Given the description of an element on the screen output the (x, y) to click on. 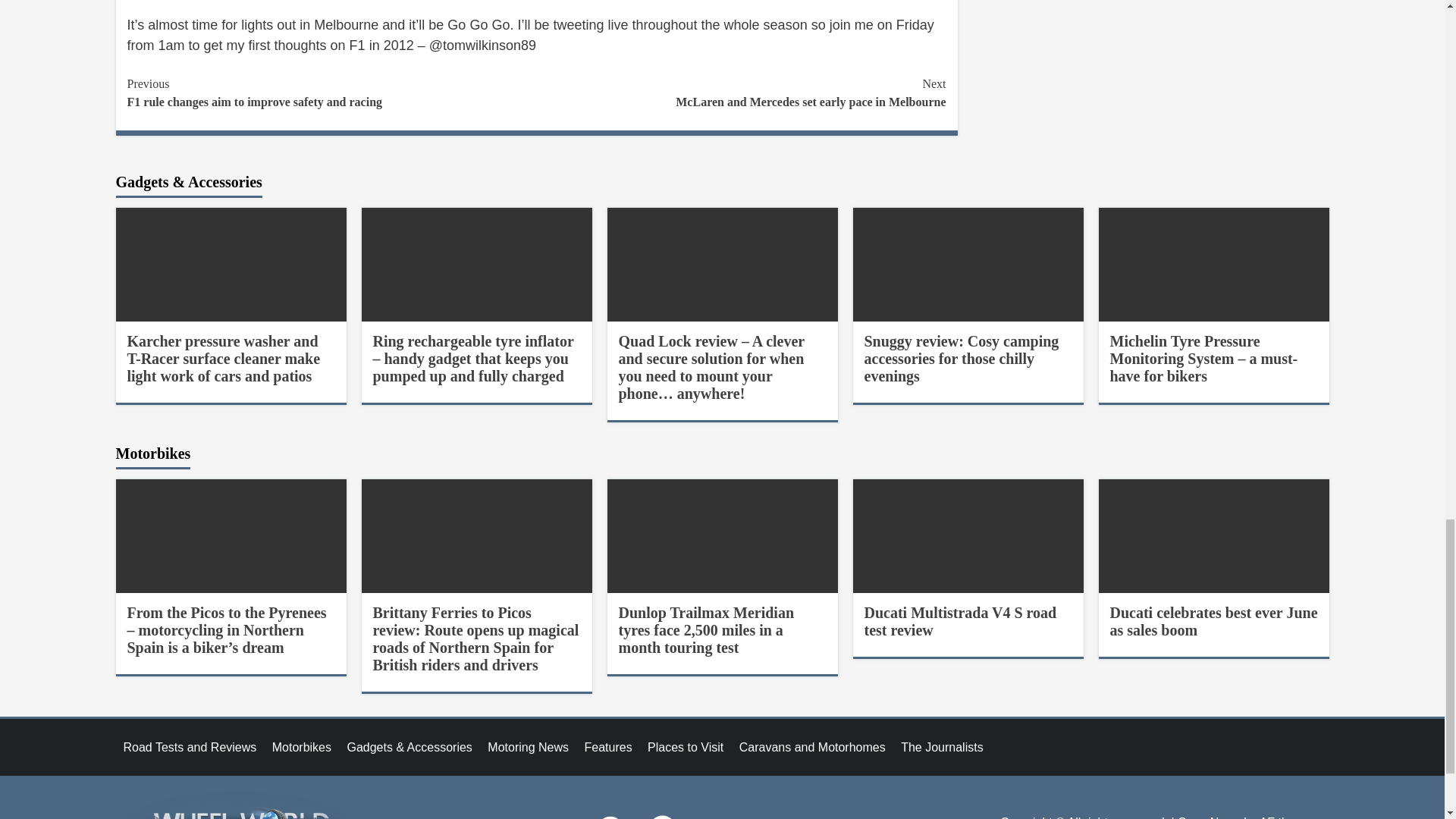
Ducati Multistrada V4 S road test review (960, 621)
